Given the description of an element on the screen output the (x, y) to click on. 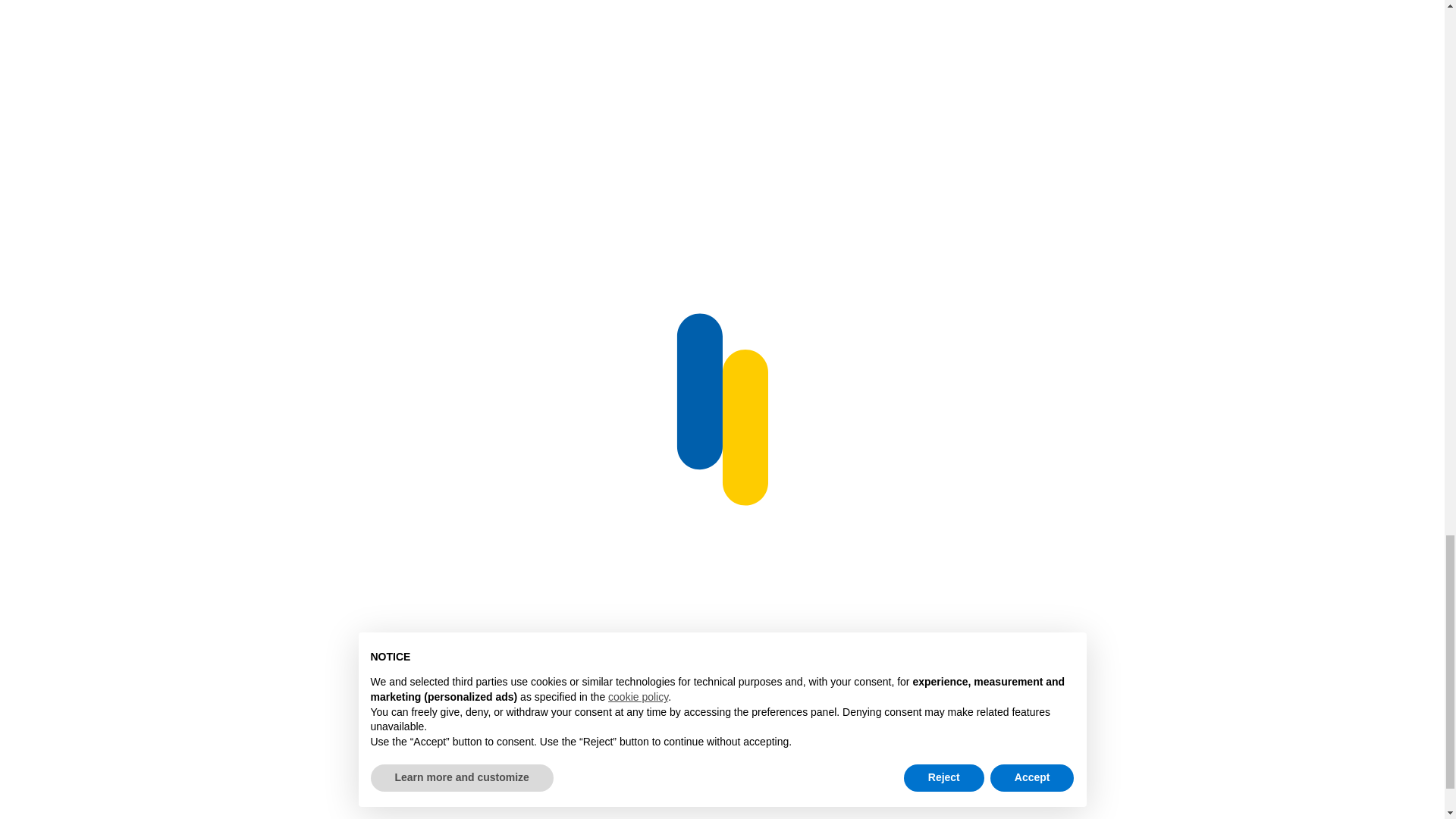
SEND (434, 641)
LOG IN NOW (224, 280)
Privacy policy (239, 675)
Cookie policy (1321, 799)
Privacy policy (1049, 799)
1 (83, 675)
I accept terms and conditions for data processing (239, 675)
